Given the description of an element on the screen output the (x, y) to click on. 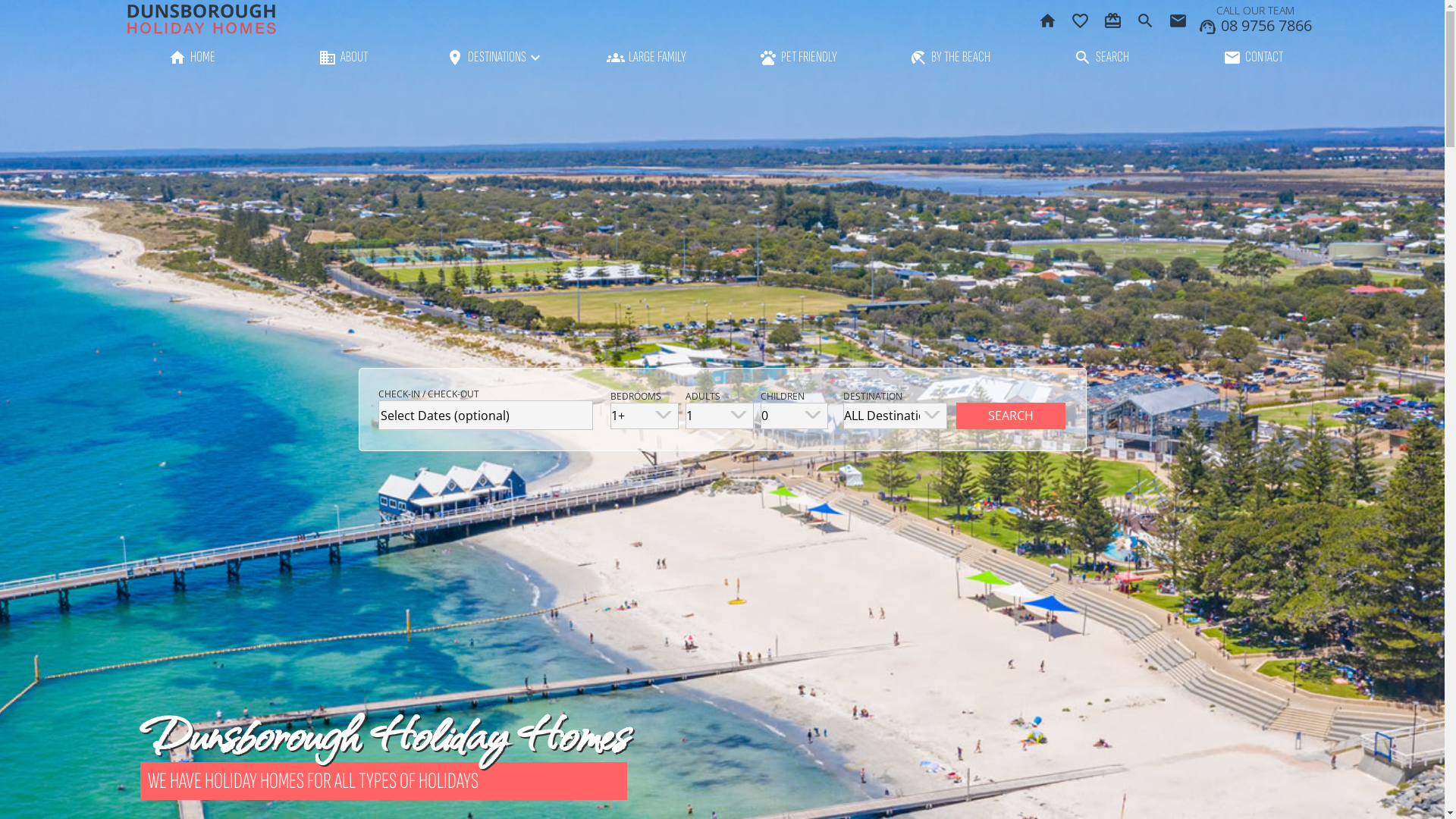
petsPET FRIENDLY Element type: text (797, 56)
search Element type: text (1147, 15)
Select Dates (optional) Element type: text (485, 414)
emailCONTACT Element type: text (1252, 56)
placeDESTINATIONSexpand_more Element type: text (494, 56)
searchSEARCH Element type: text (1100, 56)
email Element type: text (1180, 15)
support_agent08 9756 7866 Element type: text (1254, 25)
homeHOME Element type: text (190, 56)
beach_accessBY THE BEACH Element type: text (949, 56)
home Element type: text (1049, 15)
businessABOUT Element type: text (342, 56)
card_giftcard Element type: text (1114, 15)
SEARCH Element type: text (1010, 415)
groupsLARGE FAMILY Element type: text (645, 56)
favorite_border Element type: text (1082, 15)
